Given the description of an element on the screen output the (x, y) to click on. 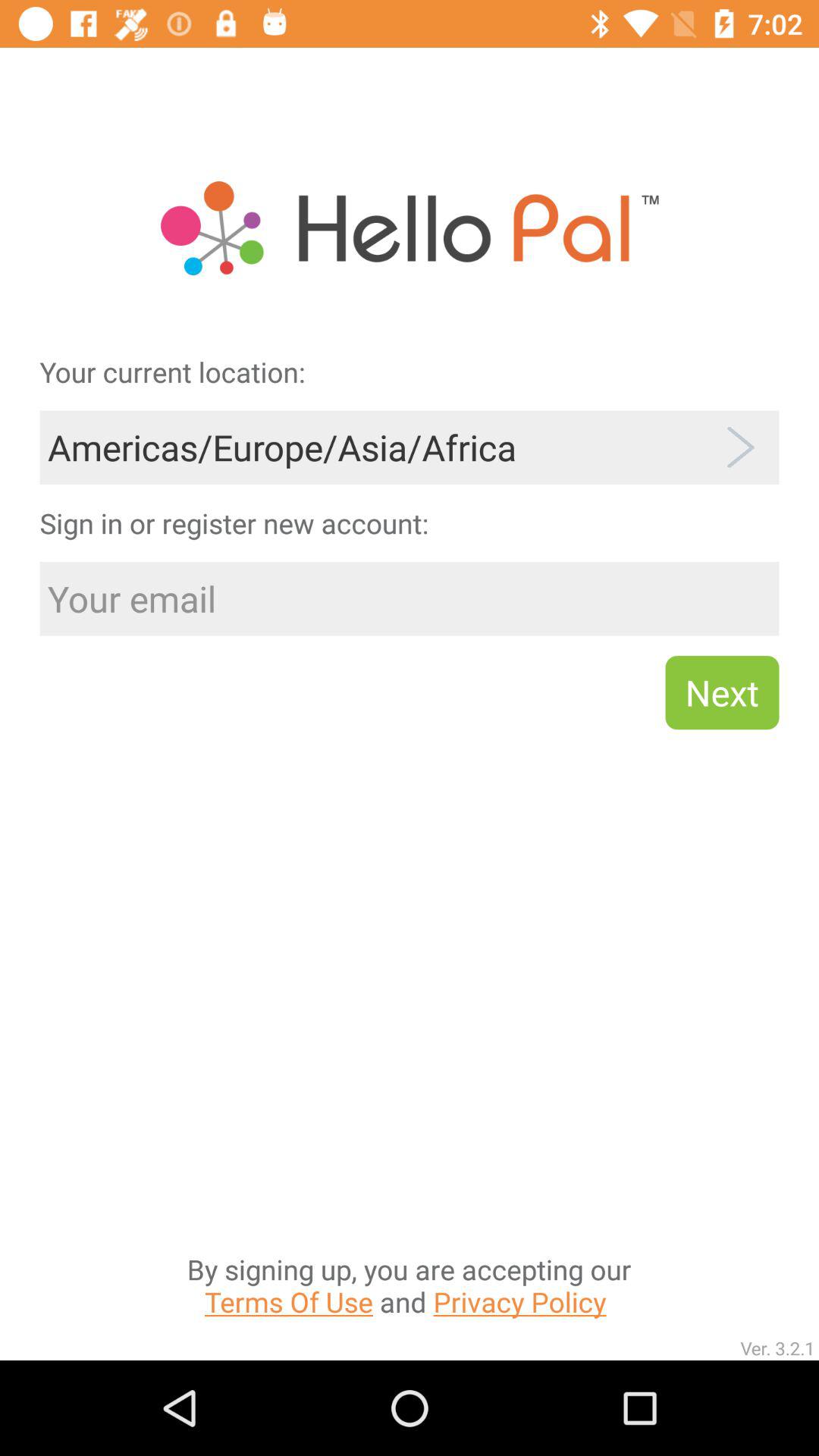
tap icon above the next item (409, 598)
